Given the description of an element on the screen output the (x, y) to click on. 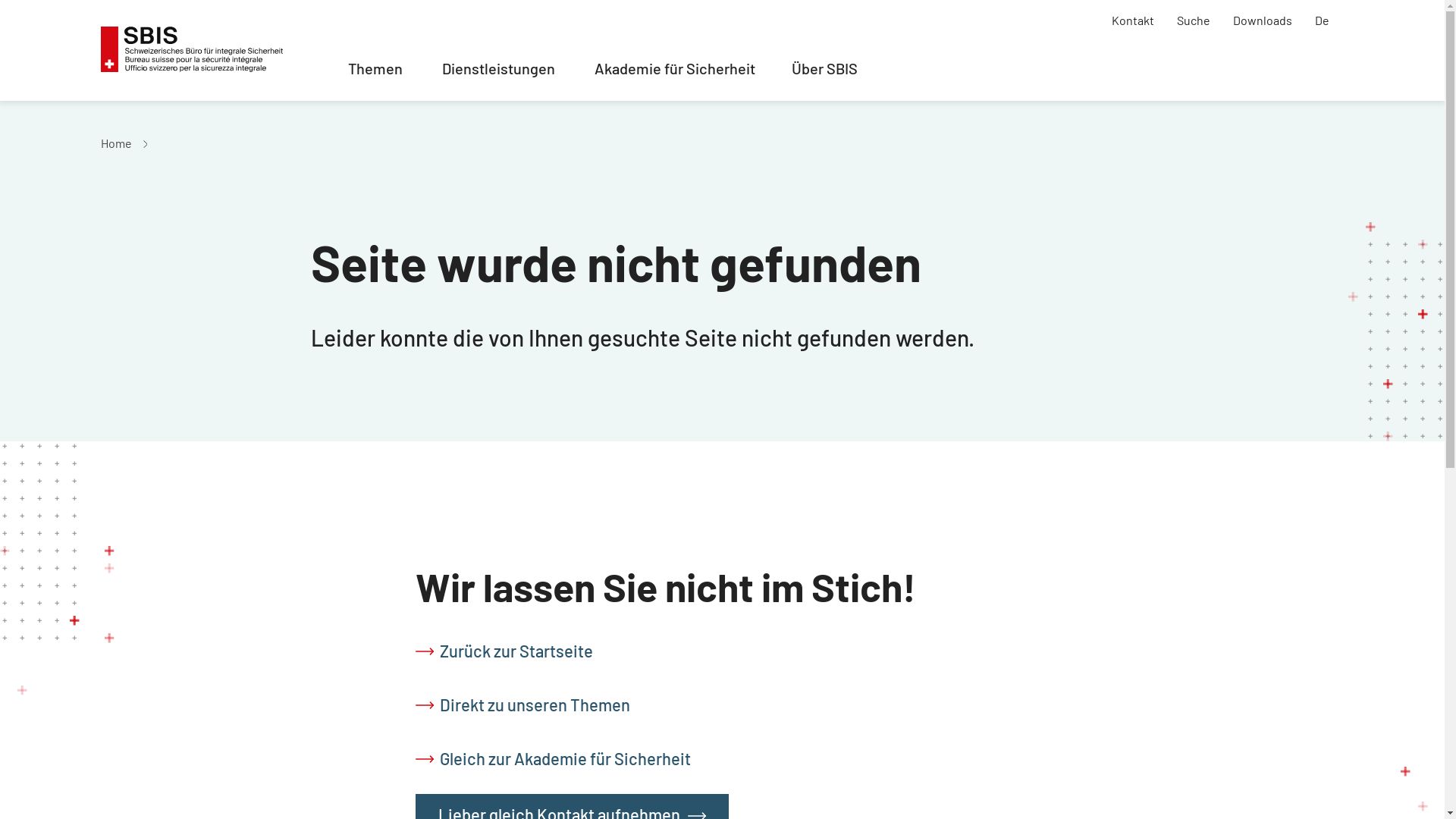
Home Element type: text (115, 142)
Direkt zu unseren Themen Element type: text (525, 701)
Downloads Element type: text (1262, 21)
Dienstleistungen Element type: text (498, 75)
Suche Element type: text (1193, 21)
Themen Element type: text (374, 75)
Kontakt Element type: text (1132, 21)
